Given the description of an element on the screen output the (x, y) to click on. 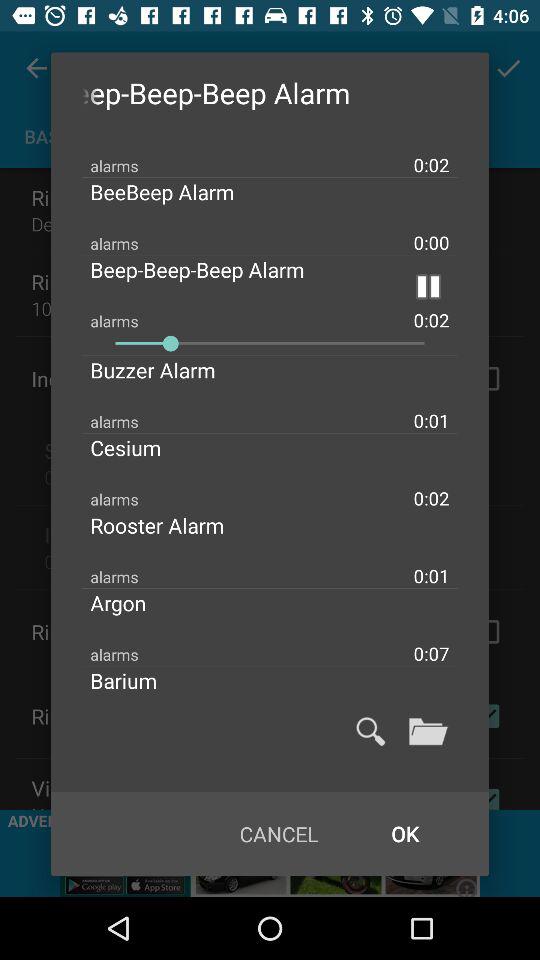
turn off icon next to beep beep beep item (428, 286)
